Given the description of an element on the screen output the (x, y) to click on. 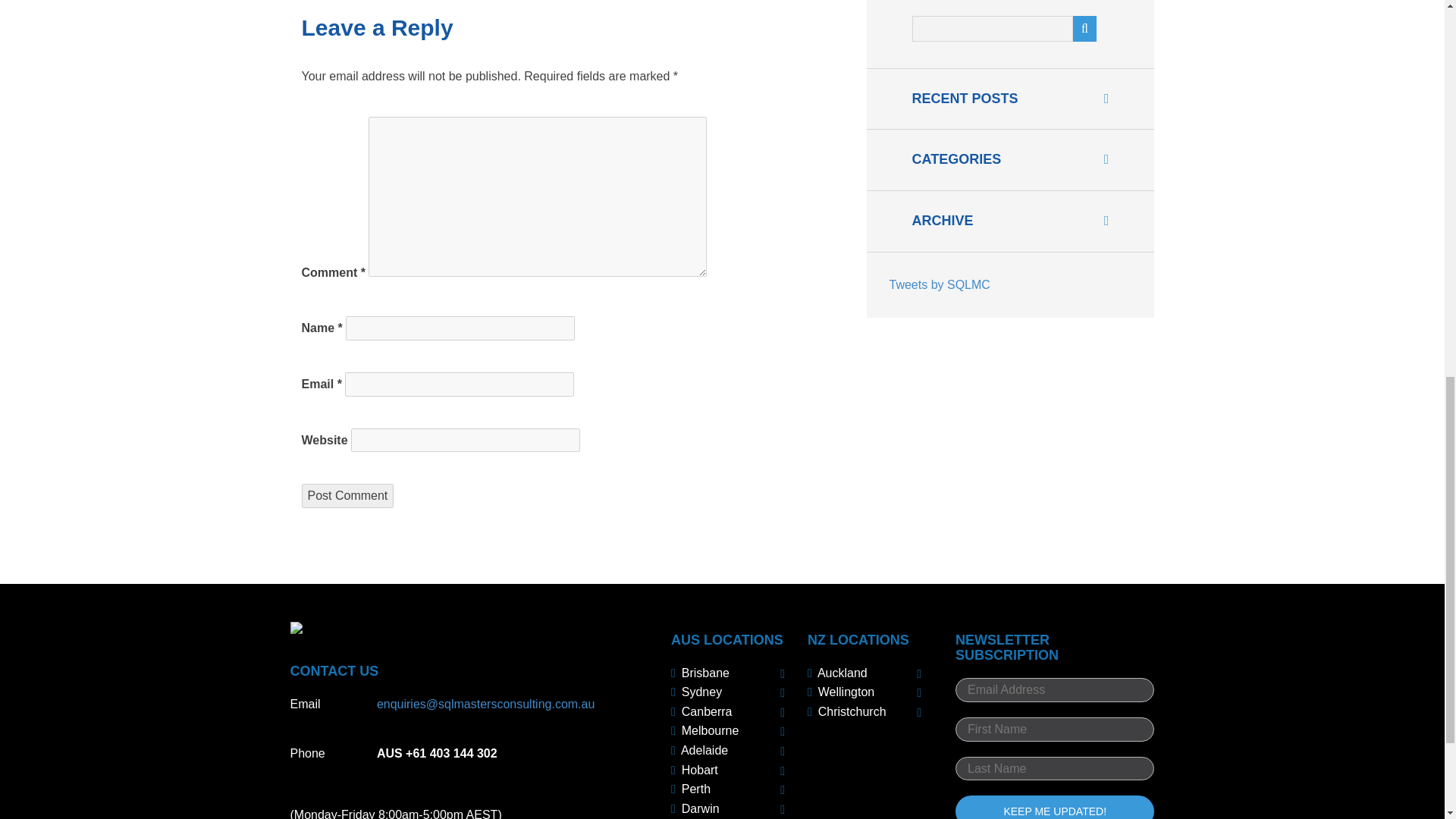
Post Comment (347, 495)
Search for: (991, 28)
Keep me updated! (1054, 807)
